Given the description of an element on the screen output the (x, y) to click on. 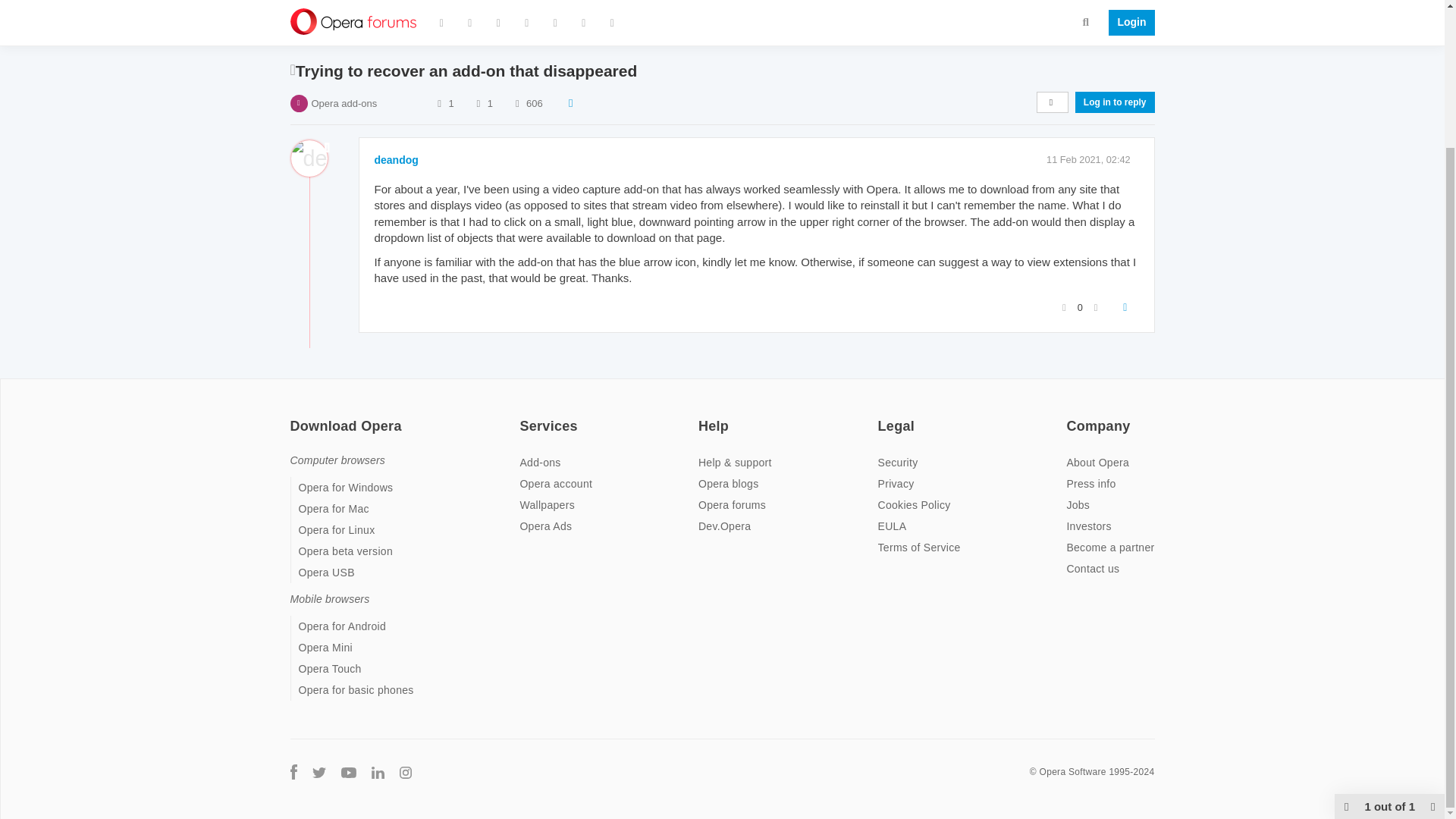
on (1070, 415)
11 Feb 2021, 02:42 (1088, 159)
on (523, 415)
on (881, 415)
Log in to reply (1114, 102)
Opera add-ons (344, 102)
deandog (396, 159)
on (702, 415)
on (293, 415)
